Given the description of an element on the screen output the (x, y) to click on. 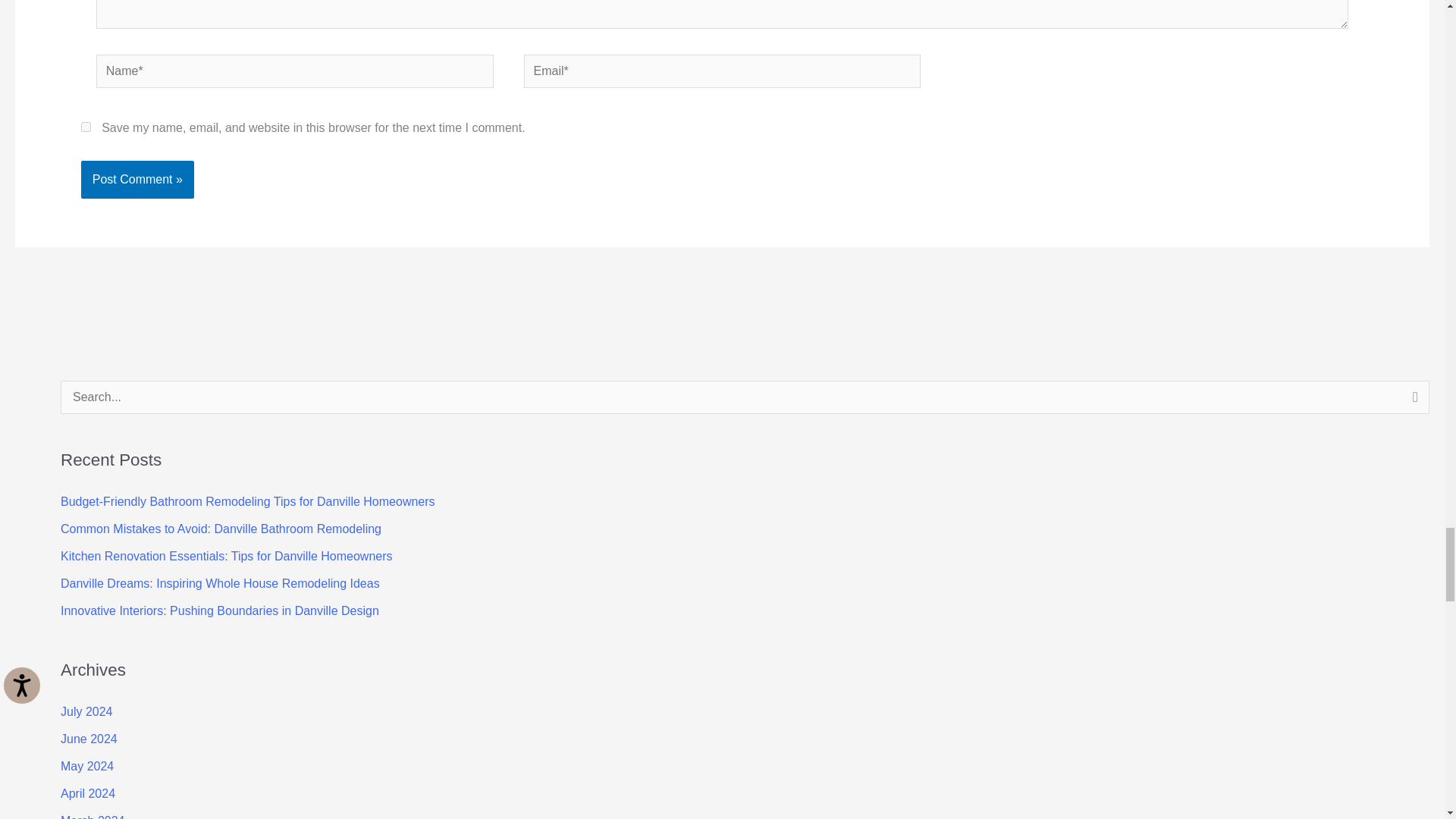
yes (85, 126)
